Given the description of an element on the screen output the (x, y) to click on. 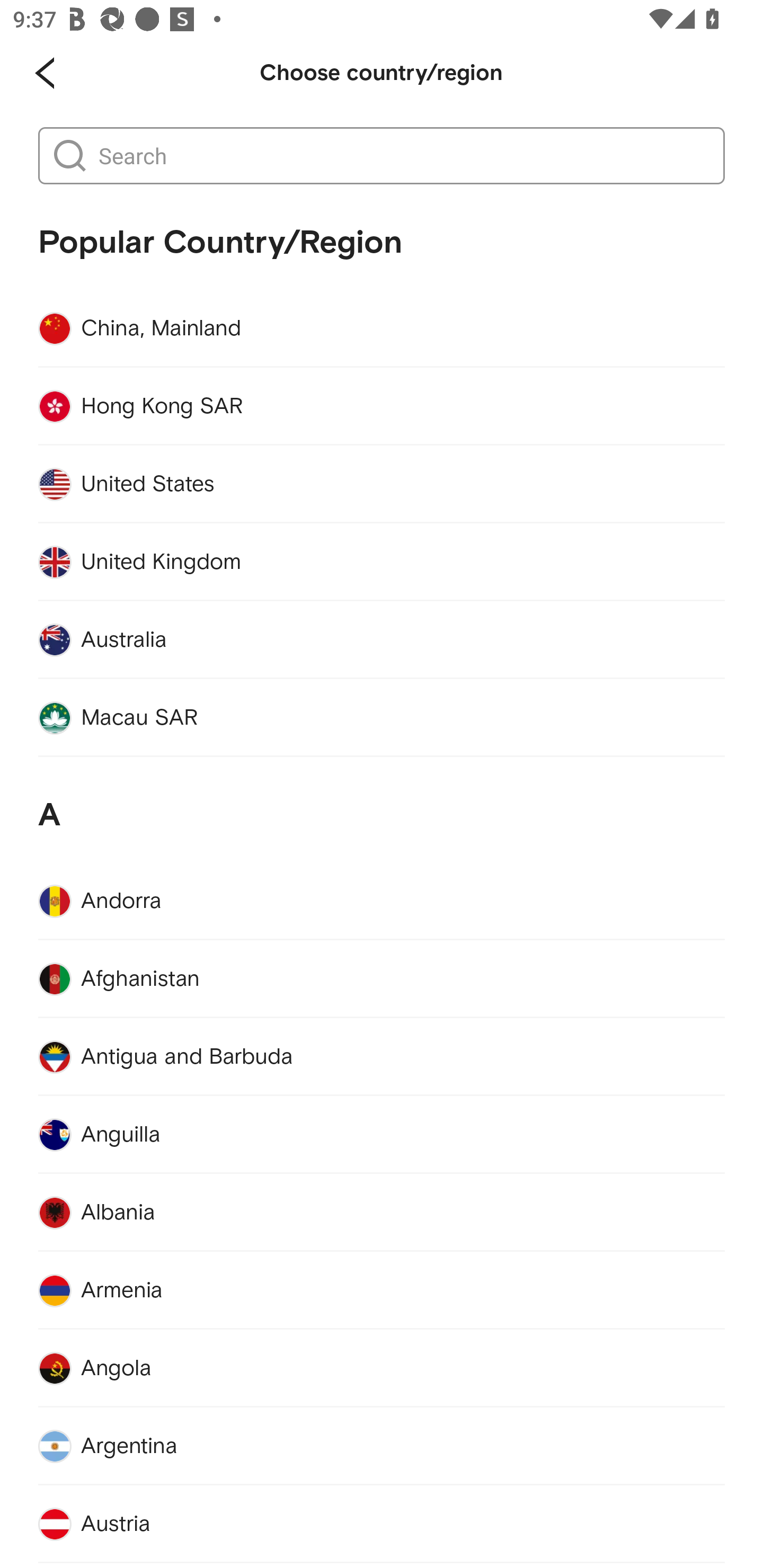
Search (401, 155)
China, Mainland (381, 328)
Hong Kong SAR (381, 405)
United States (381, 484)
United Kingdom (381, 561)
Australia (381, 639)
Macau SAR (381, 717)
A Andorra (381, 848)
Afghanistan (381, 978)
Antigua and Barbuda (381, 1056)
Anguilla (381, 1135)
Albania (381, 1212)
Armenia (381, 1290)
Angola (381, 1368)
Argentina (381, 1446)
Austria (381, 1523)
